Given the description of an element on the screen output the (x, y) to click on. 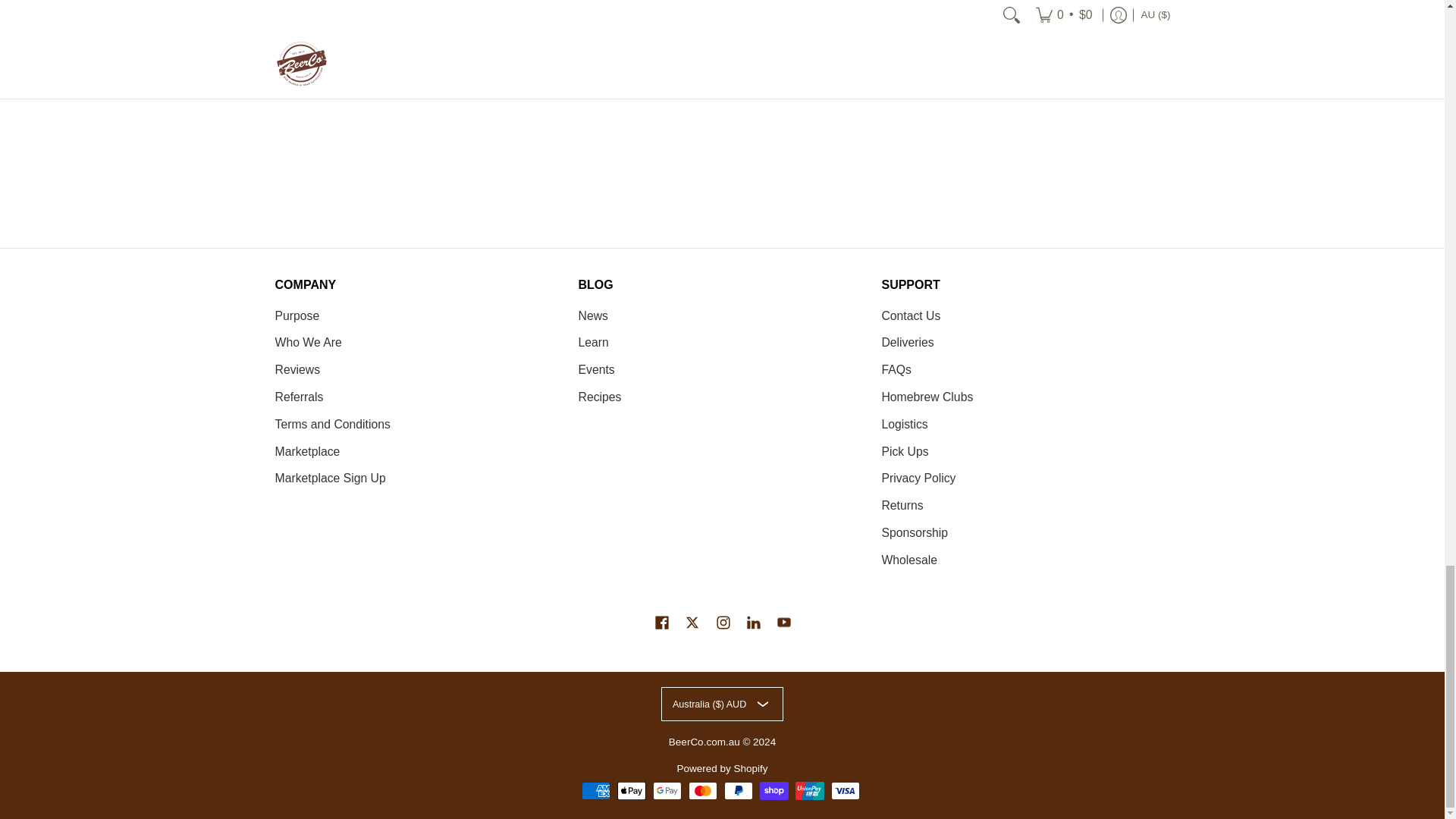
Apple Pay (631, 791)
American Express (595, 791)
